Given the description of an element on the screen output the (x, y) to click on. 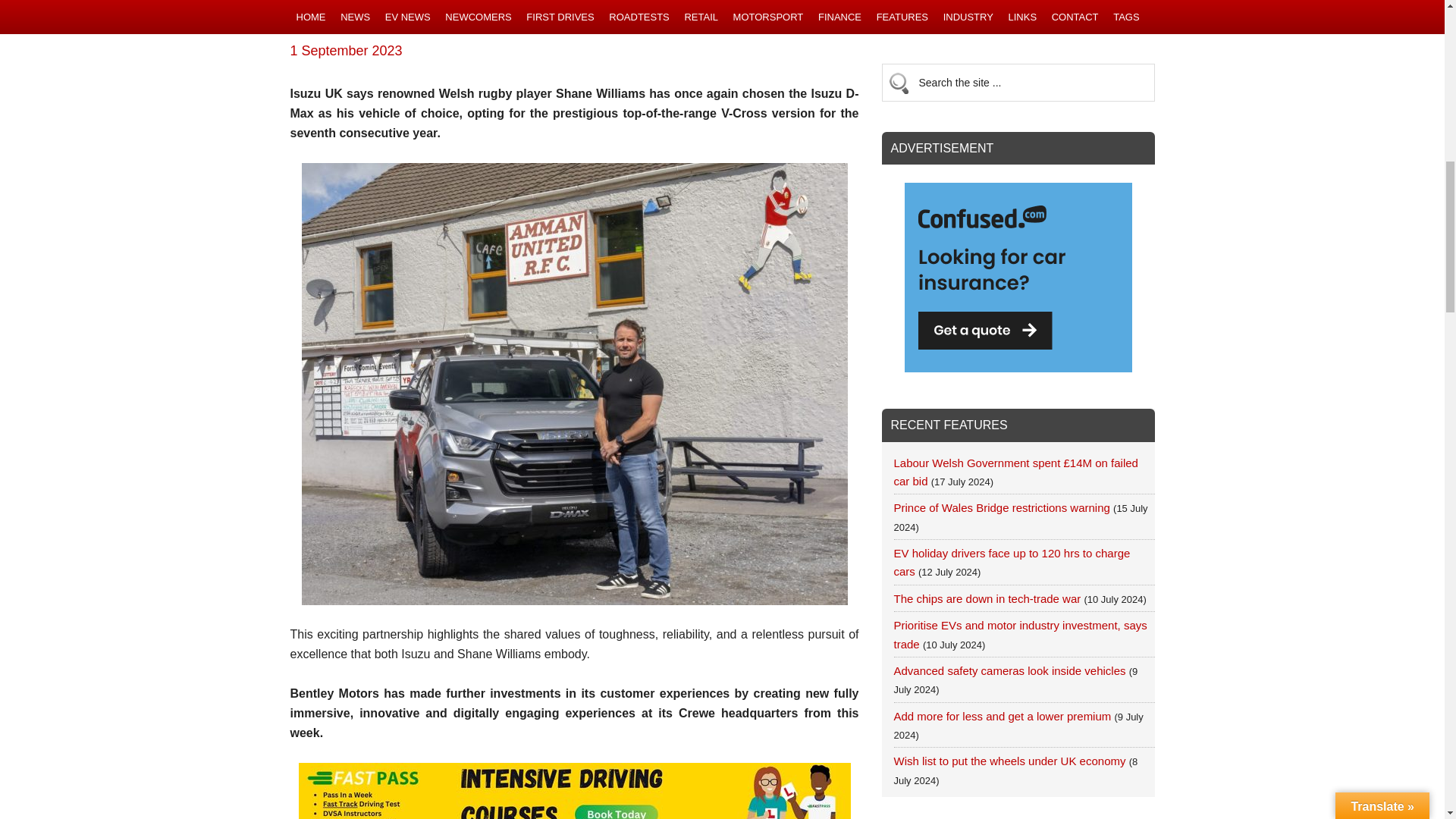
Permanent link to The chips are down in tech-trade war (986, 598)
Permanent link to Add more for less and get a lower premium (1001, 716)
